Given the description of an element on the screen output the (x, y) to click on. 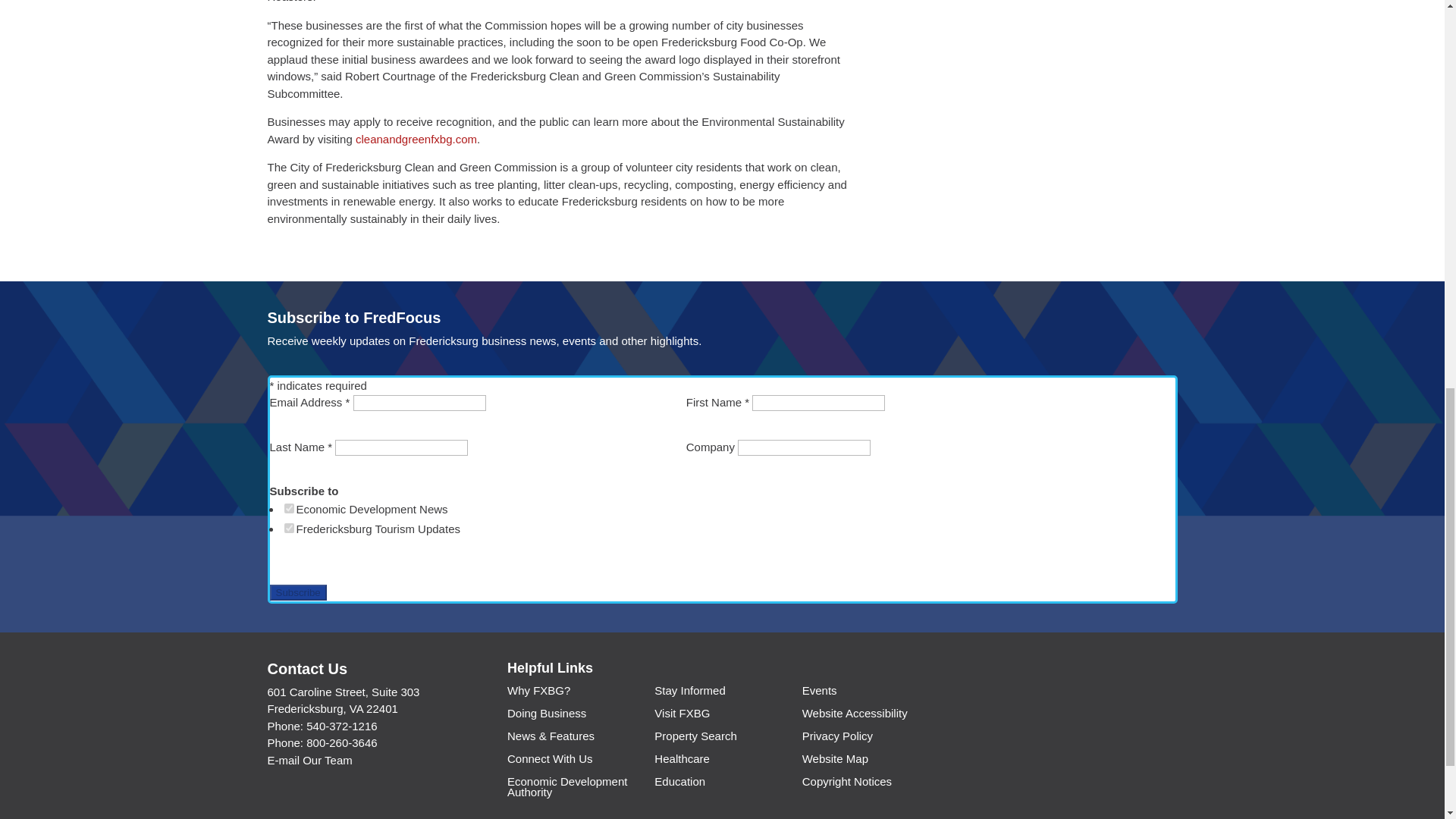
Why FXBG? (538, 693)
Doing Business (546, 716)
1 (288, 508)
2 (288, 528)
800-260-3646 (341, 742)
cleanandgreenfxbg.com (416, 138)
Subscribe (297, 592)
E-mail Our Team (309, 759)
Events (819, 693)
Subscribe (297, 592)
Stay Informed (689, 693)
540-372-1216 (341, 725)
